Given the description of an element on the screen output the (x, y) to click on. 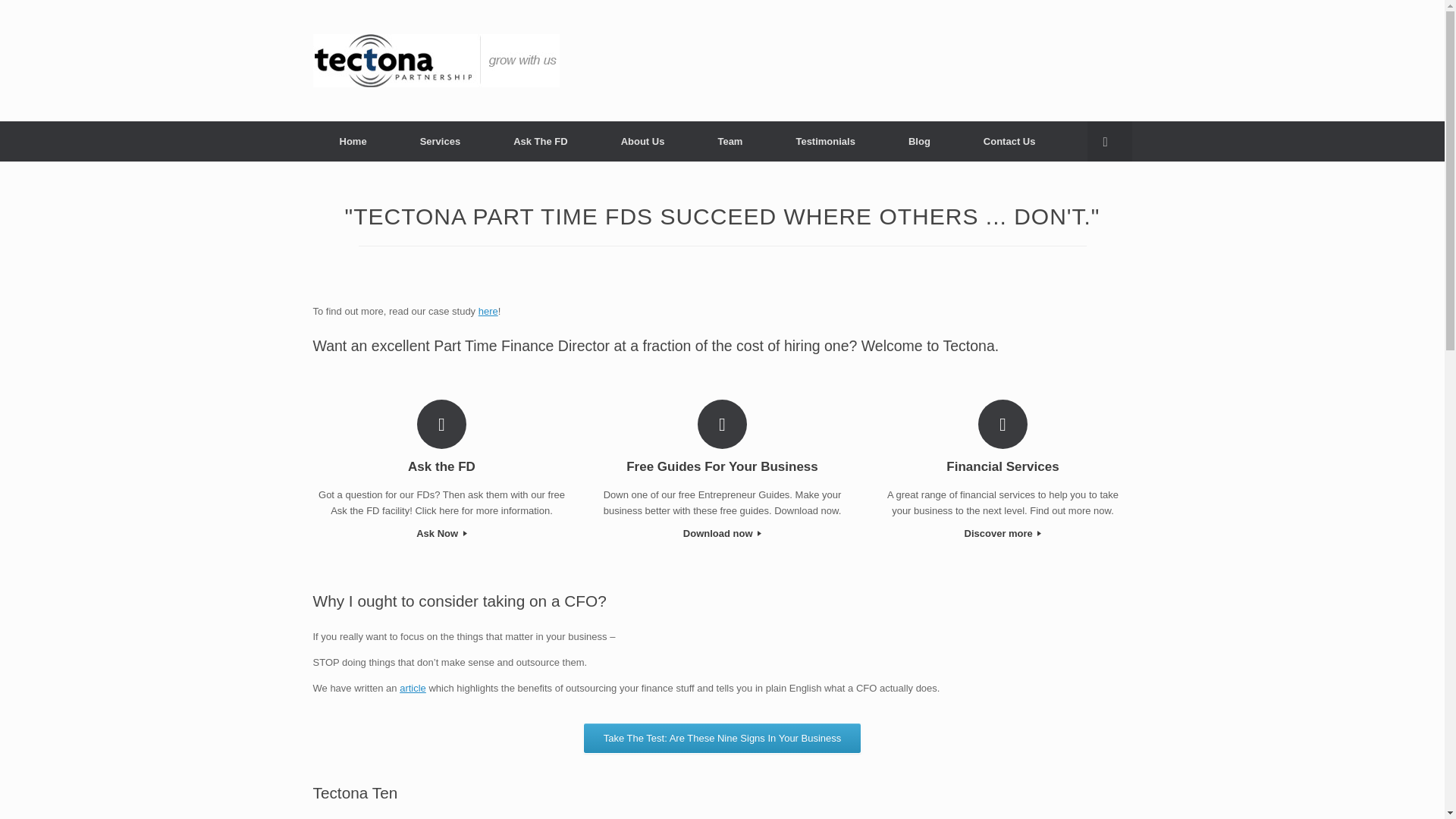
Contact Us (1009, 141)
Ask the FD (442, 466)
Ask The FD (540, 141)
Ask Now (442, 534)
article (412, 687)
Download now (721, 534)
Financial Services (1002, 466)
About Us (642, 141)
here (488, 310)
Free Guides For Your Business (721, 466)
Take The Test: Are These Nine Signs In Your Business (722, 737)
Testimonials (825, 141)
Services (440, 141)
Team (729, 141)
Tectona Partnership (436, 60)
